Given the description of an element on the screen output the (x, y) to click on. 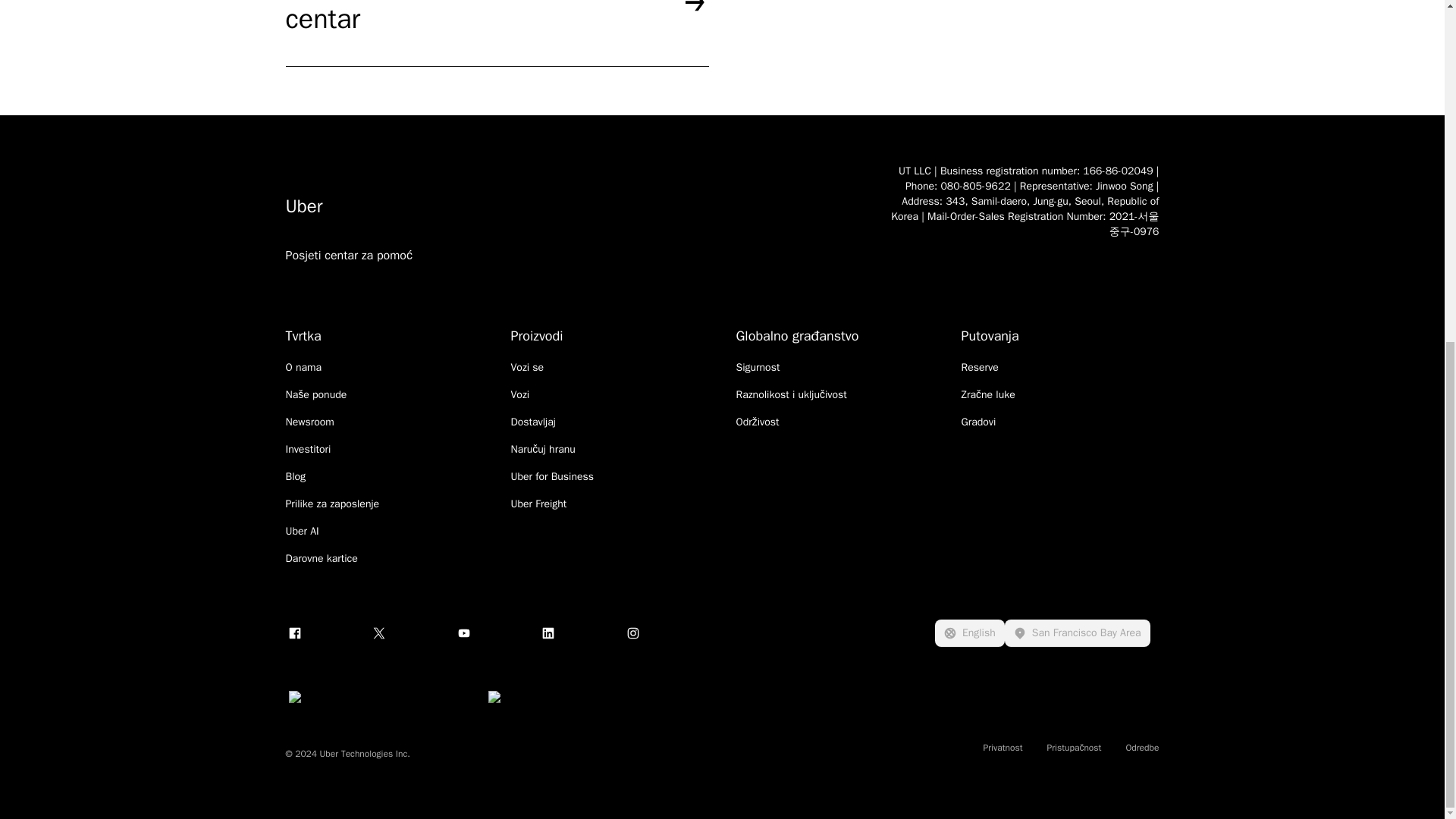
San Francisco Bay Area (1077, 633)
Uber for Business (552, 476)
Vozi (520, 394)
English (969, 633)
Dostavljaj (533, 421)
Sigurnost (756, 367)
Uber Freight (539, 503)
Darovne kartice (320, 558)
Newsroom (309, 421)
Reserve (979, 367)
Prilike za zaposlenje (331, 503)
Gradovi (977, 421)
O nama (303, 367)
Blog (295, 476)
Uber (572, 205)
